Given the description of an element on the screen output the (x, y) to click on. 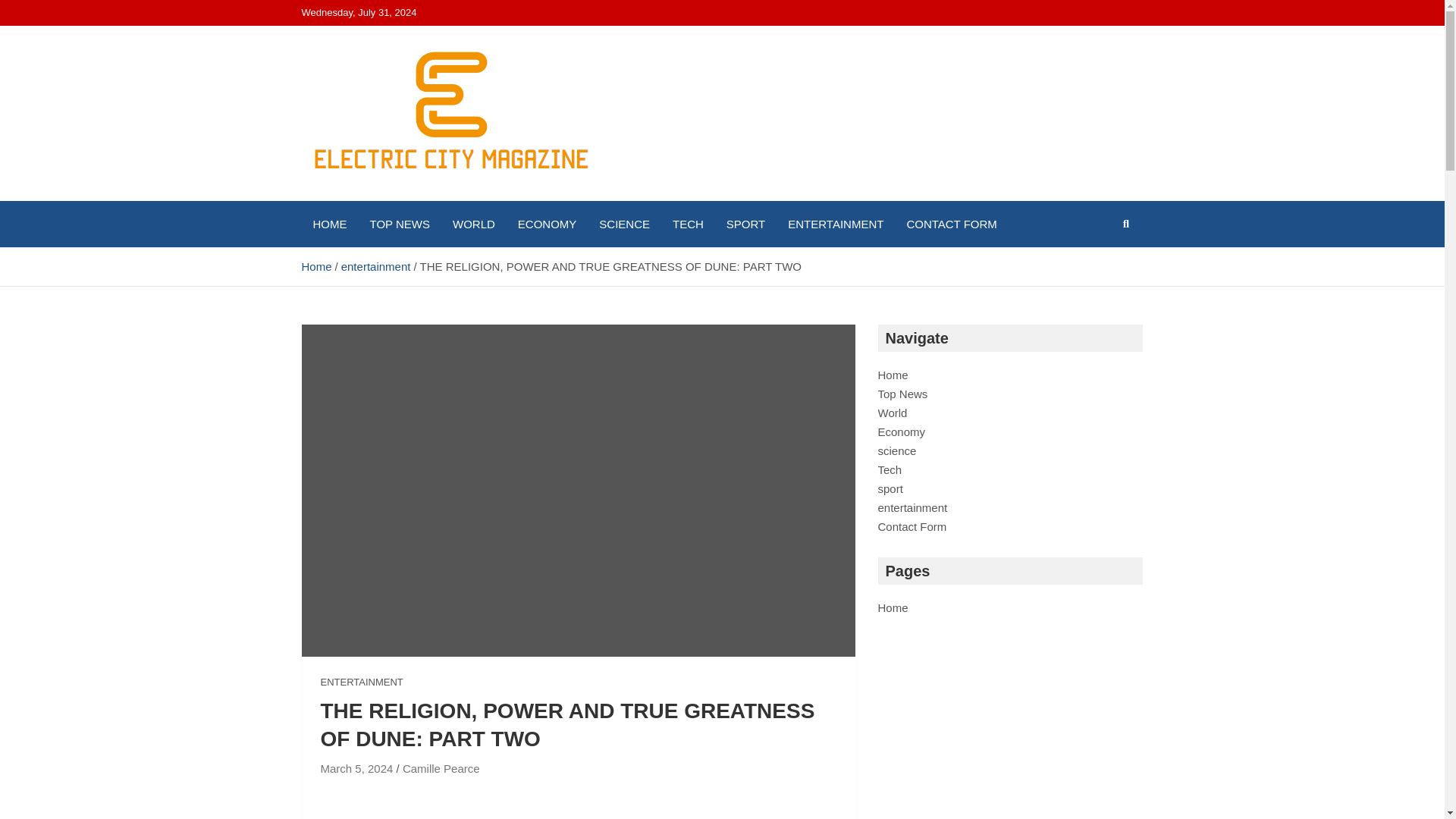
Tech (889, 469)
TECH (687, 223)
March 5, 2024 (356, 768)
Camille Pearce (441, 768)
SCIENCE (624, 223)
THE RELIGION, POWER AND TRUE GREATNESS OF DUNE: PART TWO (356, 768)
Economy (901, 431)
Home (316, 266)
SPORT (745, 223)
HOME (329, 223)
World (892, 412)
entertainment (912, 507)
sport (889, 488)
ENTERTAINMENT (835, 223)
Contact Form (912, 526)
